Given the description of an element on the screen output the (x, y) to click on. 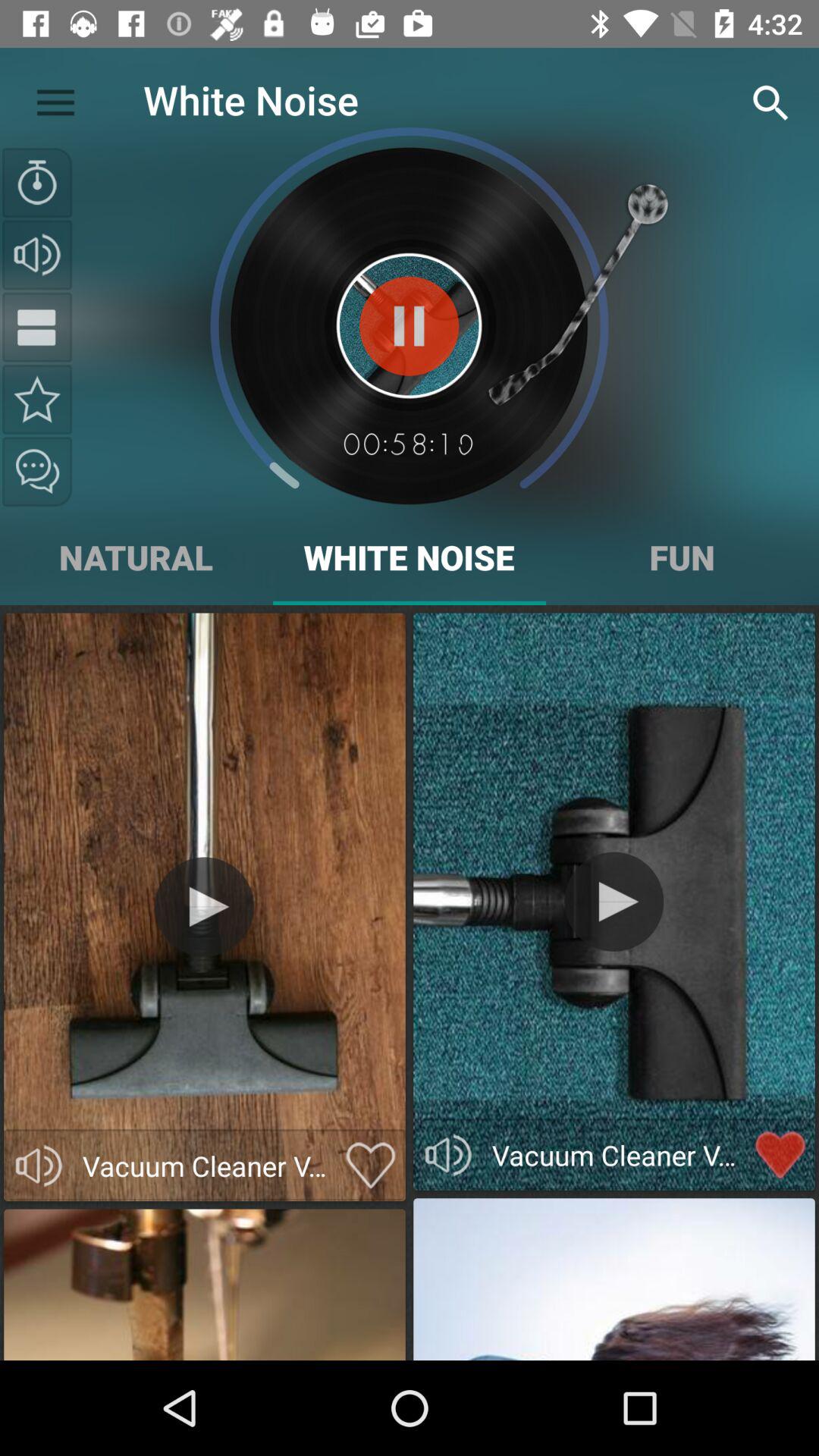
play audio sample (38, 1166)
